Given the description of an element on the screen output the (x, y) to click on. 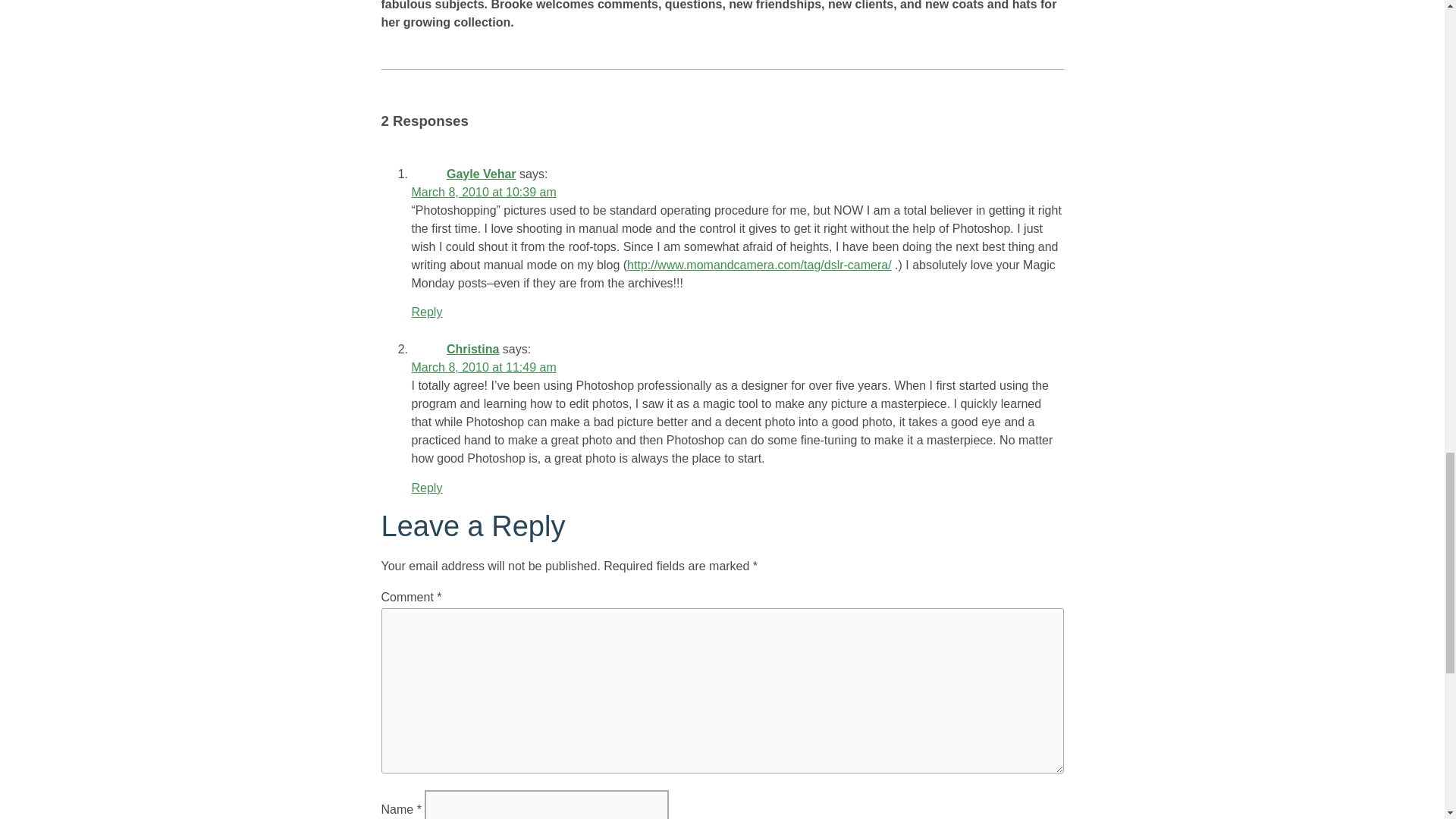
Reply (426, 487)
Gayle Vehar (481, 173)
March 8, 2010 at 11:49 am (483, 367)
March 8, 2010 at 10:39 am (483, 192)
Reply (426, 311)
Christina (472, 349)
